Given the description of an element on the screen output the (x, y) to click on. 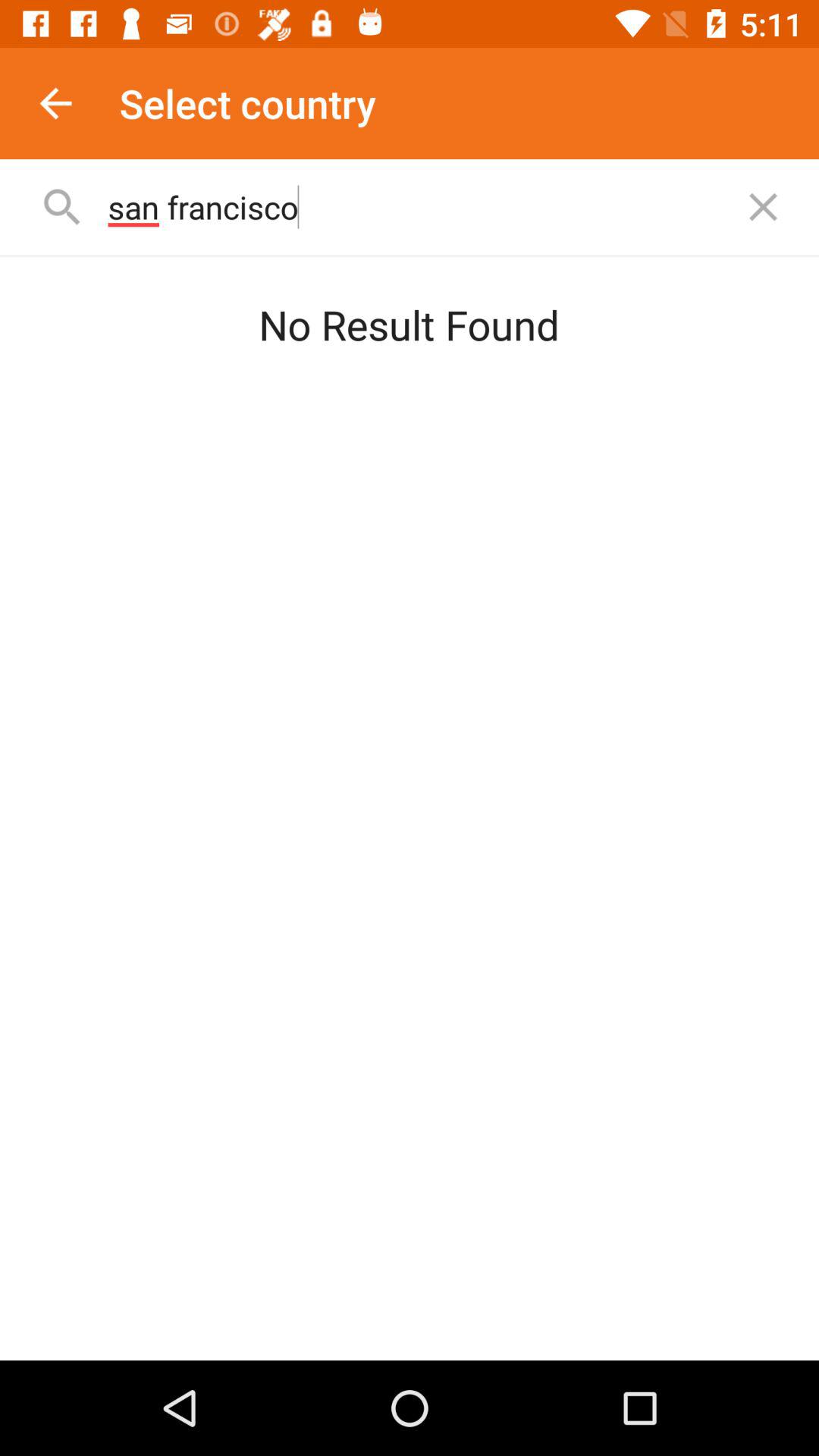
choose the san francisco (412, 206)
